Given the description of an element on the screen output the (x, y) to click on. 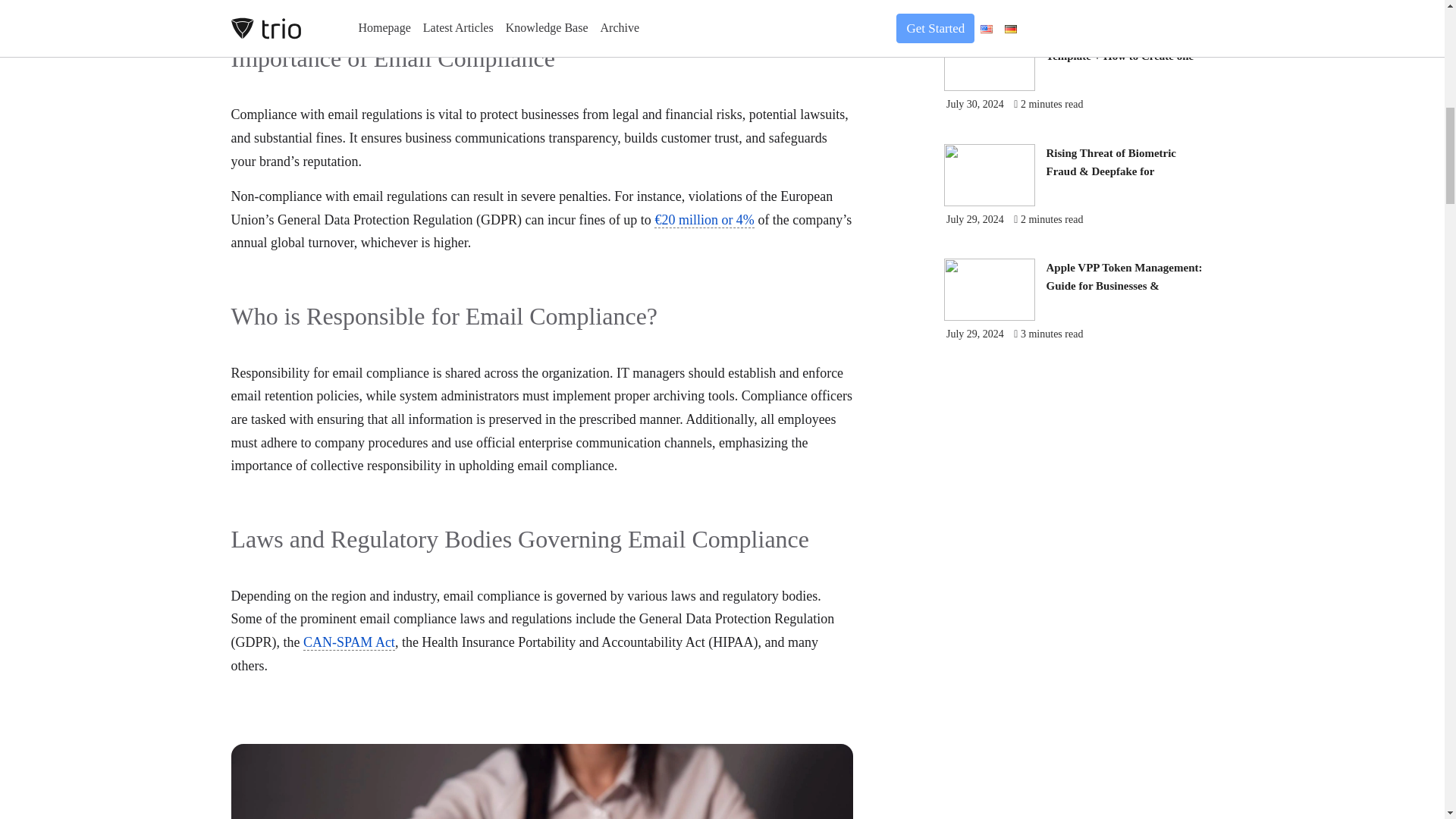
CAN-SPAM Act (348, 642)
